Given the description of an element on the screen output the (x, y) to click on. 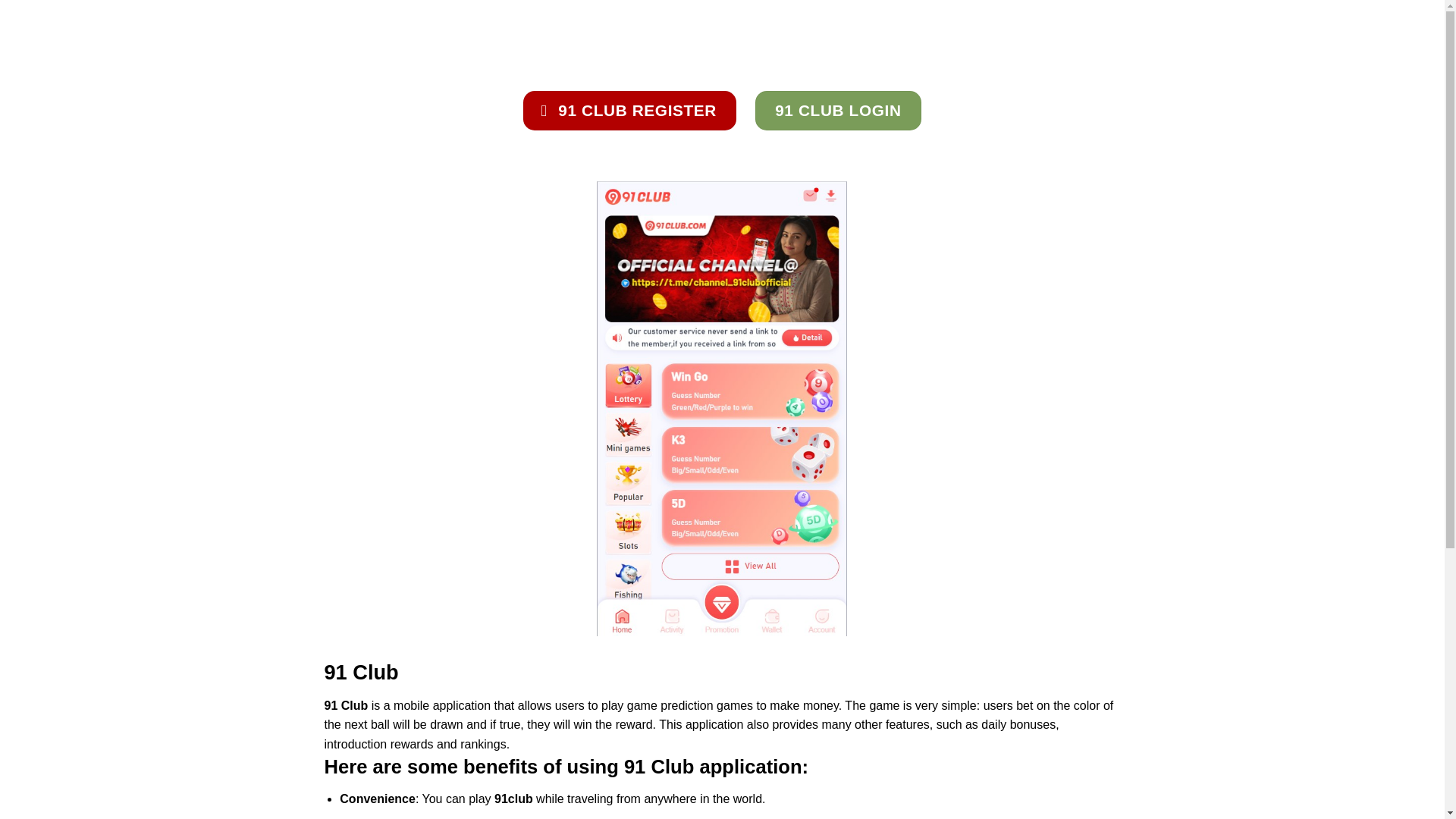
91 CLUB REGISTER (629, 110)
91 CLUB LOGIN (837, 110)
91 CLUB (400, 33)
91 Club (400, 33)
